Given the description of an element on the screen output the (x, y) to click on. 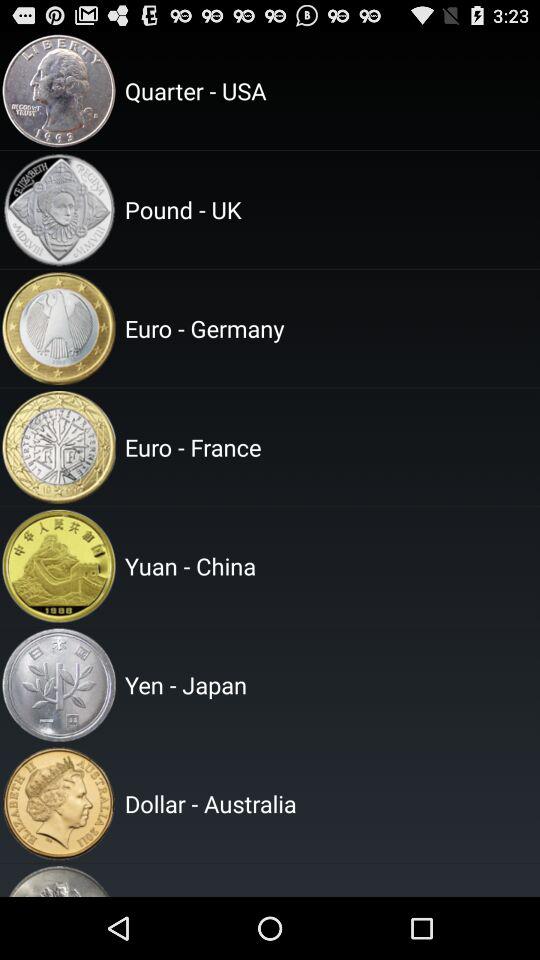
swipe to the yen - japan (329, 684)
